Given the description of an element on the screen output the (x, y) to click on. 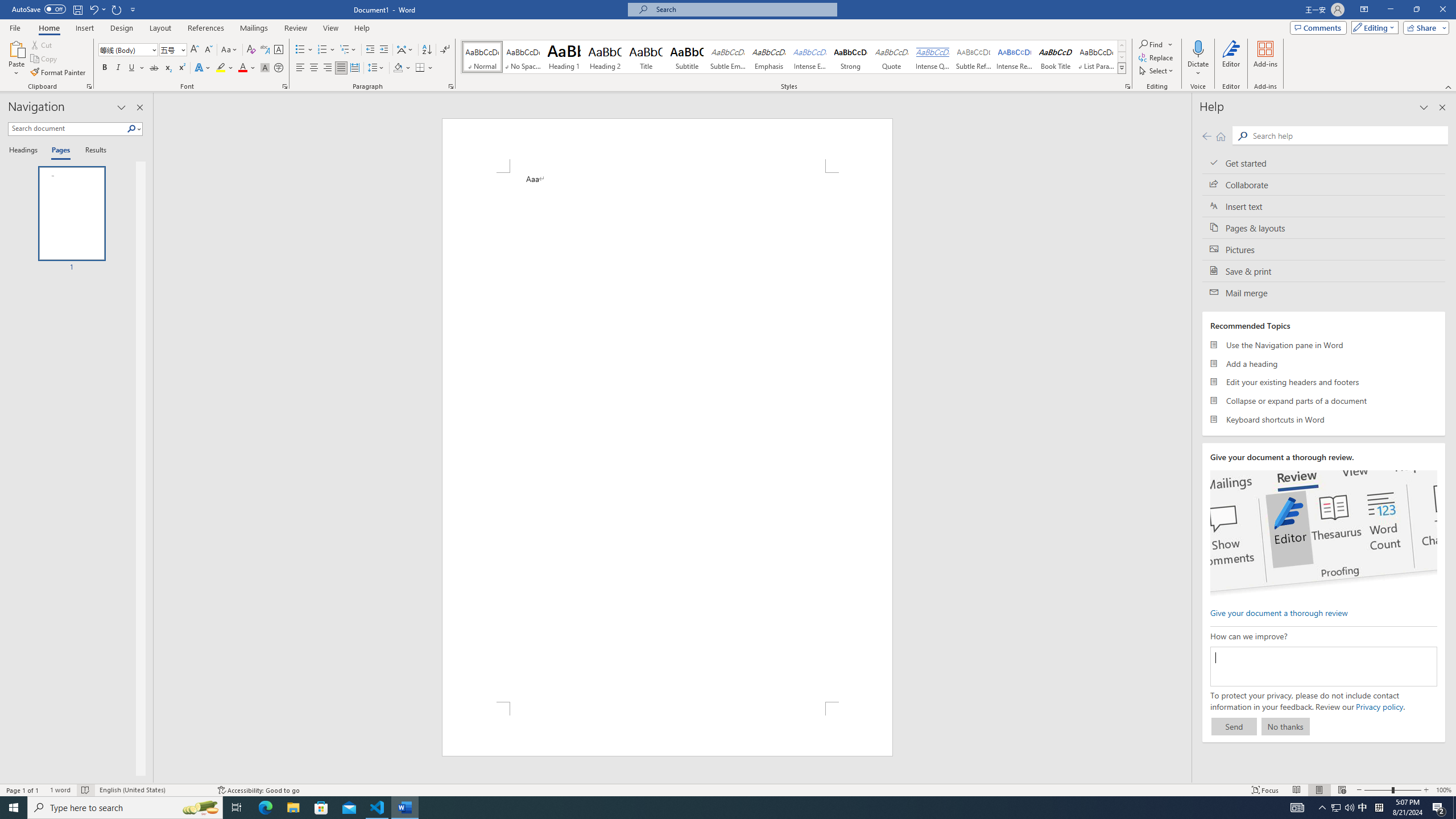
Row Down (1121, 56)
Accessibility Checker Accessibility: Good to go (258, 790)
Intense Quote (932, 56)
Intense Emphasis (809, 56)
Multilevel List (347, 49)
Bold (104, 67)
Class: NetUIScrollBar (1186, 437)
Customize Quick Access Toolbar (133, 9)
Font (124, 49)
Insert (83, 28)
Language English (United States) (152, 790)
Quick Access Toolbar (74, 9)
Font... (285, 85)
Copy (45, 58)
